Given the description of an element on the screen output the (x, y) to click on. 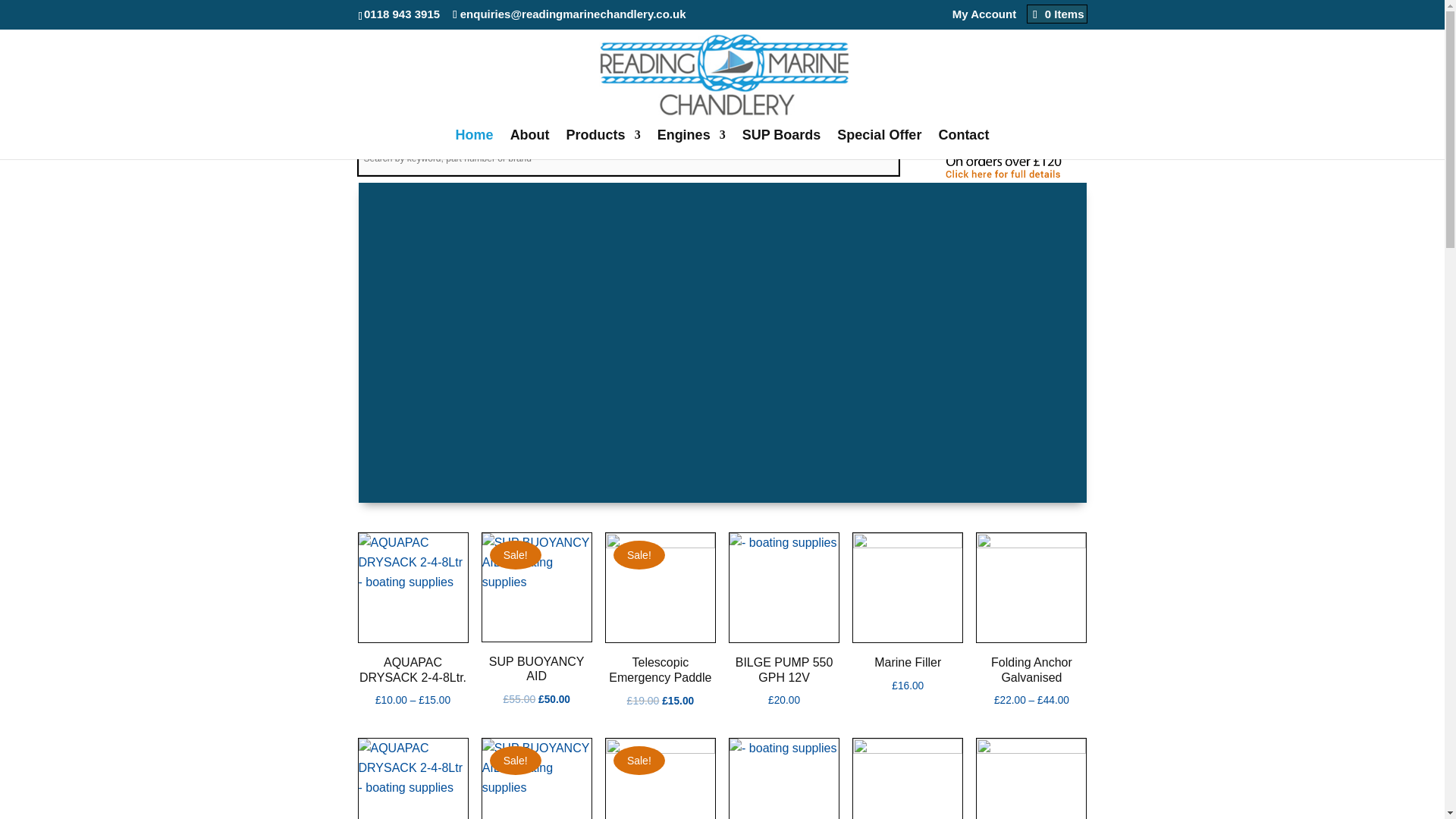
Engines (691, 143)
Contact (962, 143)
Special Offer (879, 143)
Home (474, 143)
SUP Boards (781, 143)
Products (603, 143)
0 Items (1056, 13)
My Account (984, 17)
About (530, 143)
